Given the description of an element on the screen output the (x, y) to click on. 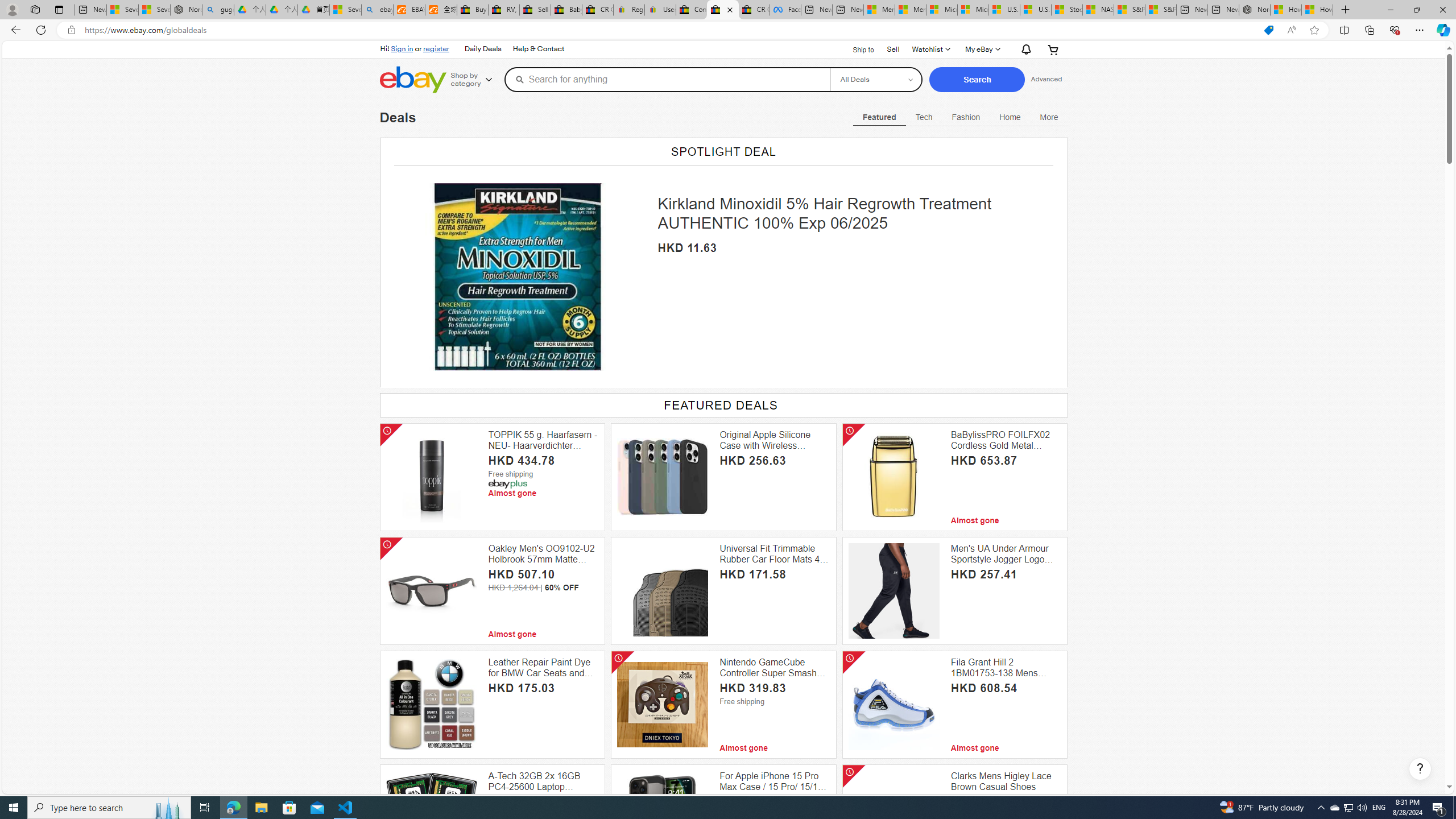
Consumer Health Data Privacy Policy - eBay Inc. (691, 9)
Copilot (Ctrl+Shift+.) (1442, 29)
Split screen (1344, 29)
Fashion (966, 116)
Ship to (855, 48)
Facebook (785, 9)
Expand Cart (1052, 49)
Close tab (730, 9)
Search for anything (666, 78)
Advanced Search (1046, 78)
App bar (728, 29)
RV, Trailer & Camper Steps & Ladders for sale | eBay (503, 9)
